Given the description of an element on the screen output the (x, y) to click on. 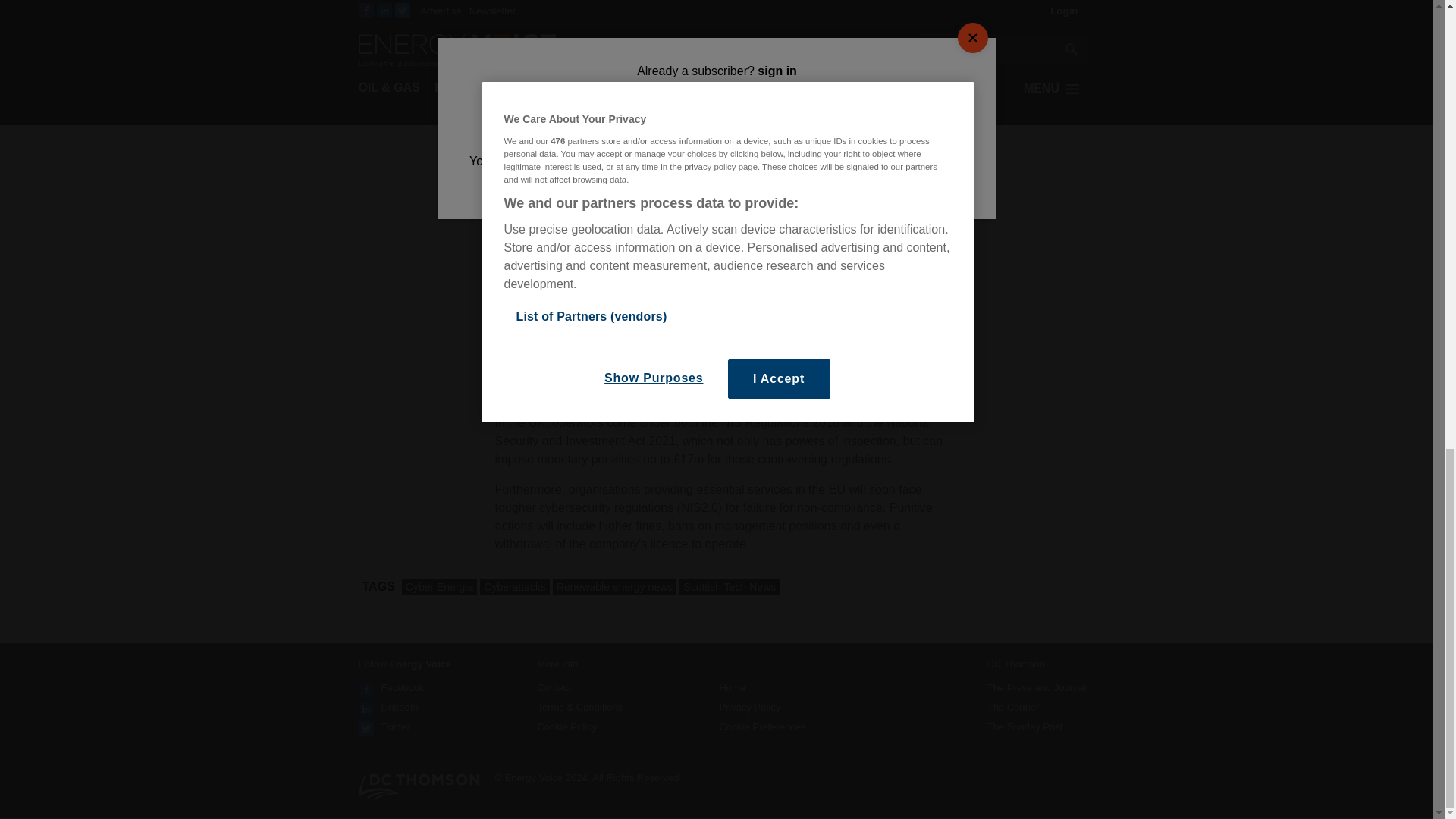
LinkedIn (398, 706)
Twitter (394, 726)
Facebook (401, 686)
